Given the description of an element on the screen output the (x, y) to click on. 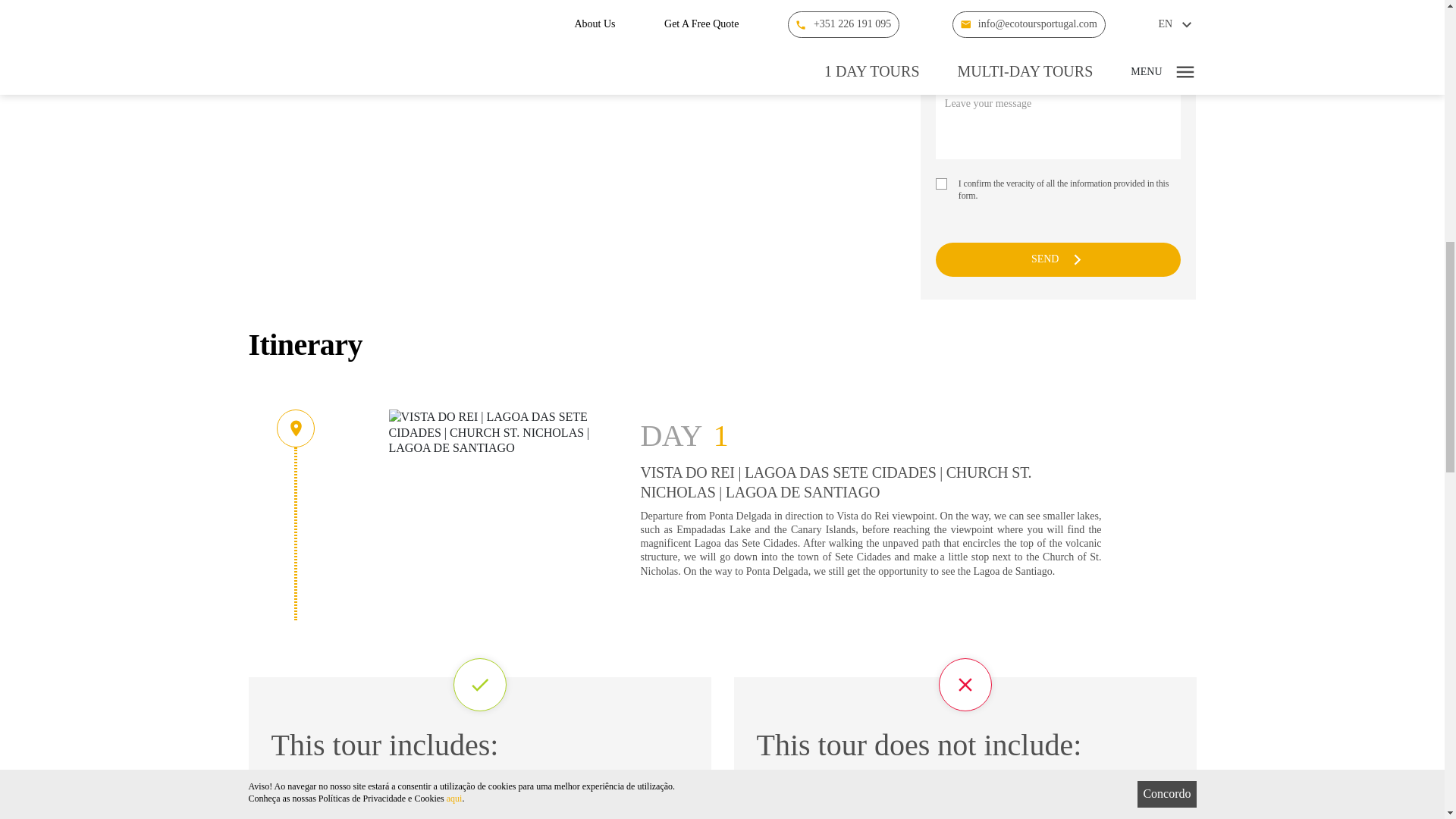
1 (941, 183)
